Given the description of an element on the screen output the (x, y) to click on. 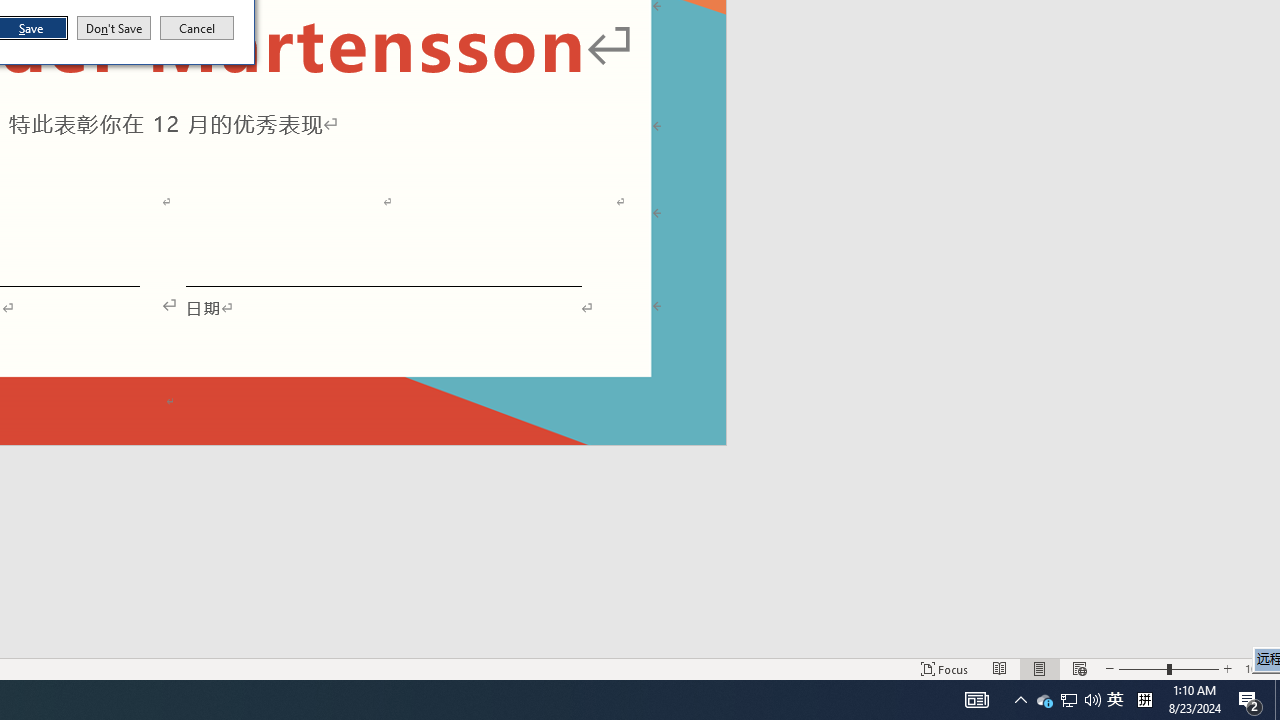
Don't Save (113, 27)
Tray Input Indicator - Chinese (Simplified, China) (1115, 699)
